Given the description of an element on the screen output the (x, y) to click on. 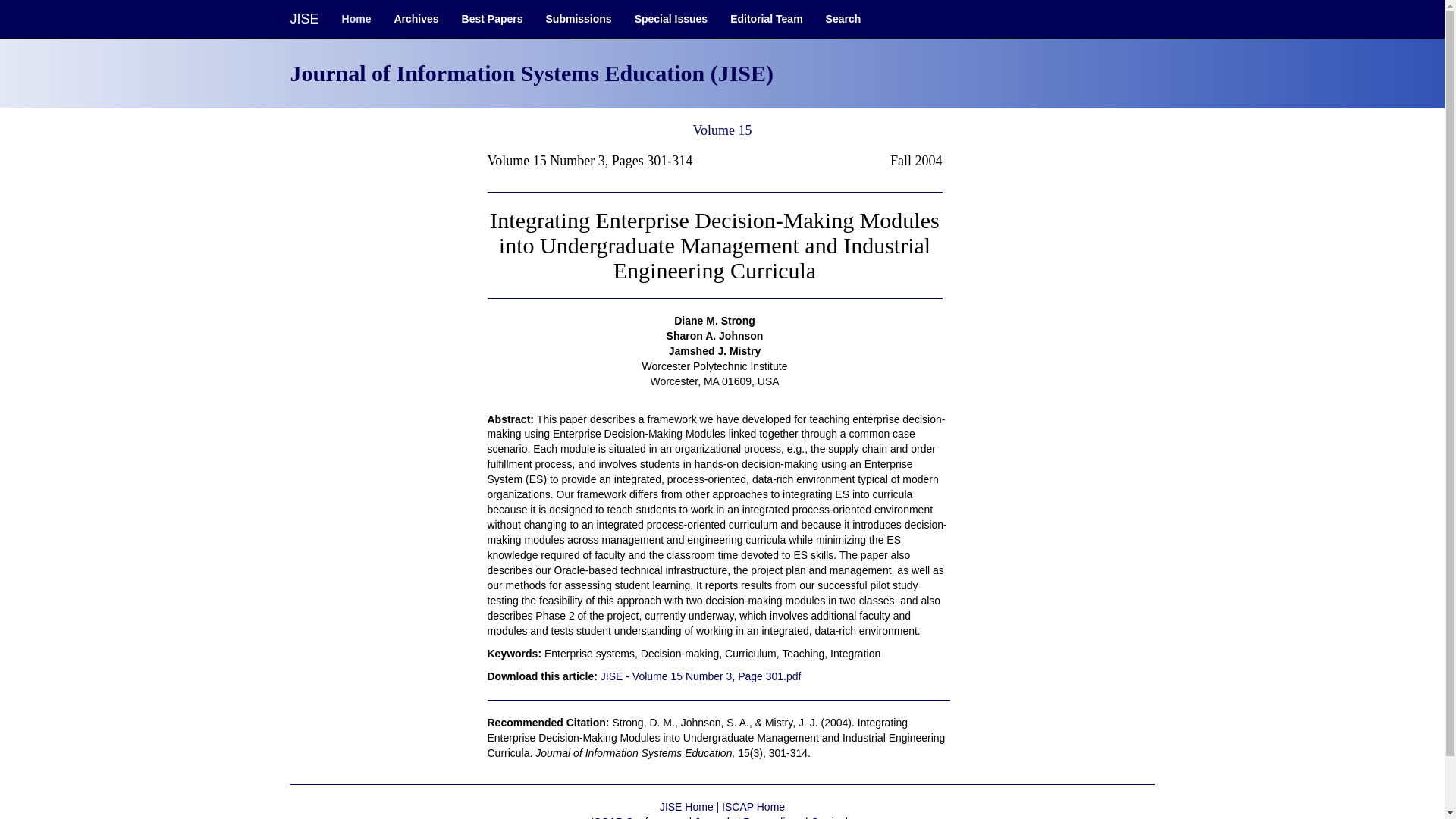
Proceedings (772, 817)
Submissions (578, 18)
Archives (415, 18)
Editorial Team (766, 18)
JISE - Volume 15 Number 3, Page 301.pdf (700, 676)
Search (842, 18)
Journals (714, 817)
JISE (304, 18)
Curricula (831, 817)
Volume 15 (722, 130)
Best Papers (491, 18)
ISCAP Home (753, 806)
Home (356, 18)
Special Issues (671, 18)
ISCAP Conferences (638, 817)
